Given the description of an element on the screen output the (x, y) to click on. 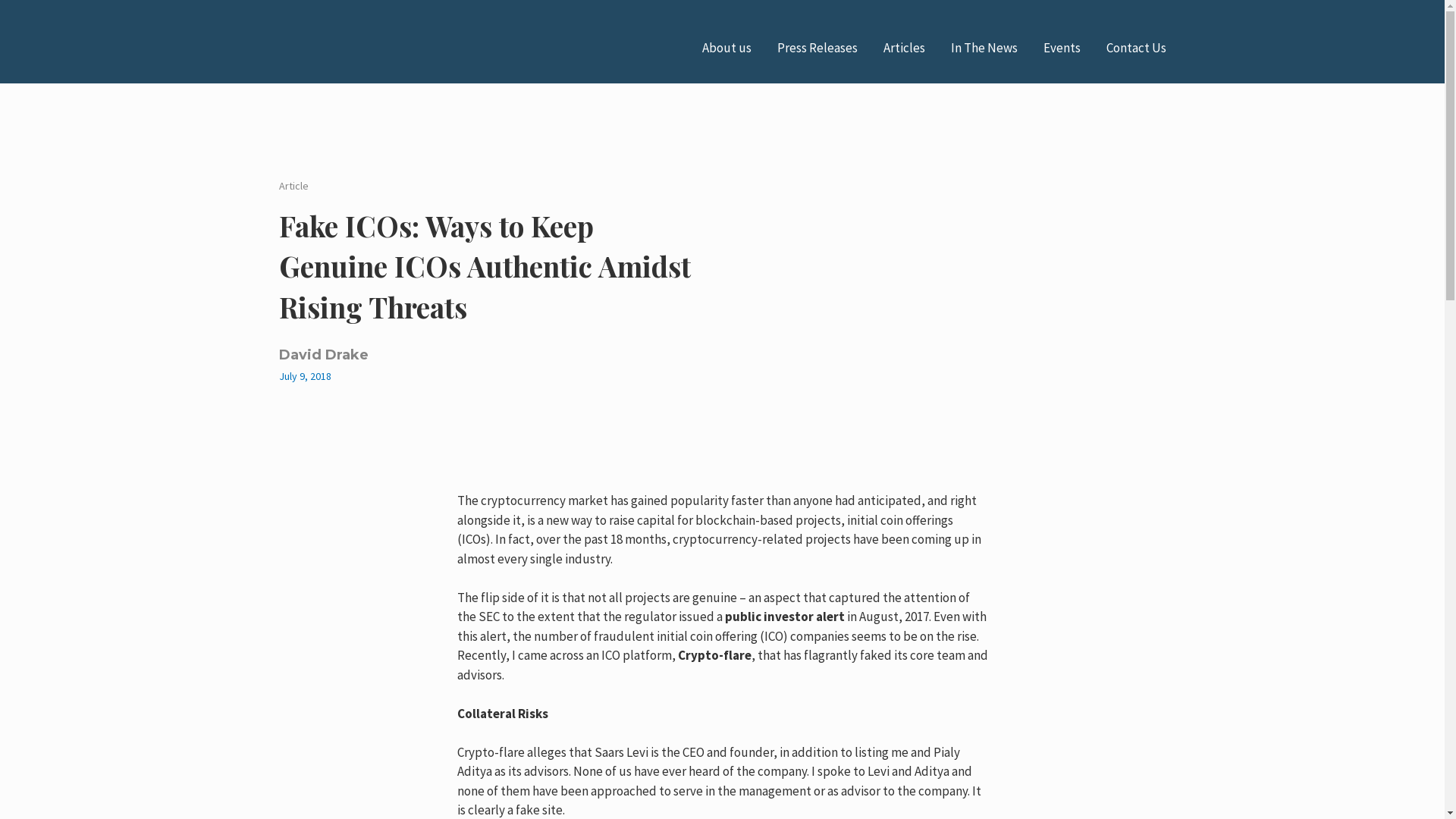
In The News (983, 47)
Crypto-flare (714, 655)
Press Releases (816, 47)
Contact Us (1135, 47)
About us (726, 47)
public investor alert (784, 616)
Articles (903, 47)
Events (1061, 47)
